Given the description of an element on the screen output the (x, y) to click on. 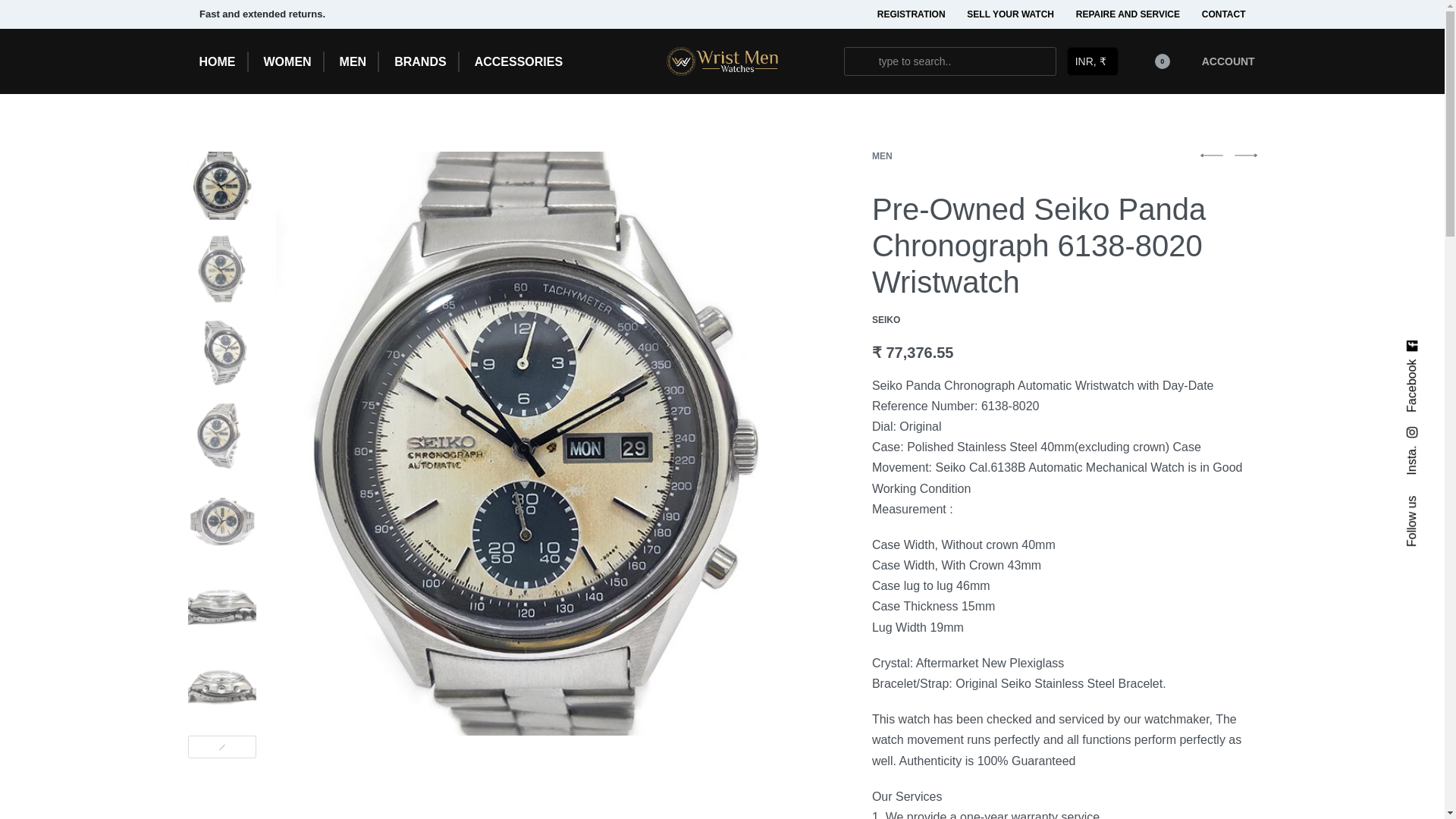
SELL YOUR WATCH (1010, 14)
BRANDS (419, 61)
REPAIRE AND SERVICE (1127, 14)
0 (221, 185)
HOME (216, 61)
MEN (352, 61)
REGISTRATION (910, 14)
Fast and extended returns. (454, 13)
ACCESSORIES (518, 61)
0 (1153, 61)
ACCOUNT (1229, 61)
CONTACT (1224, 14)
WOMEN (287, 61)
